Given the description of an element on the screen output the (x, y) to click on. 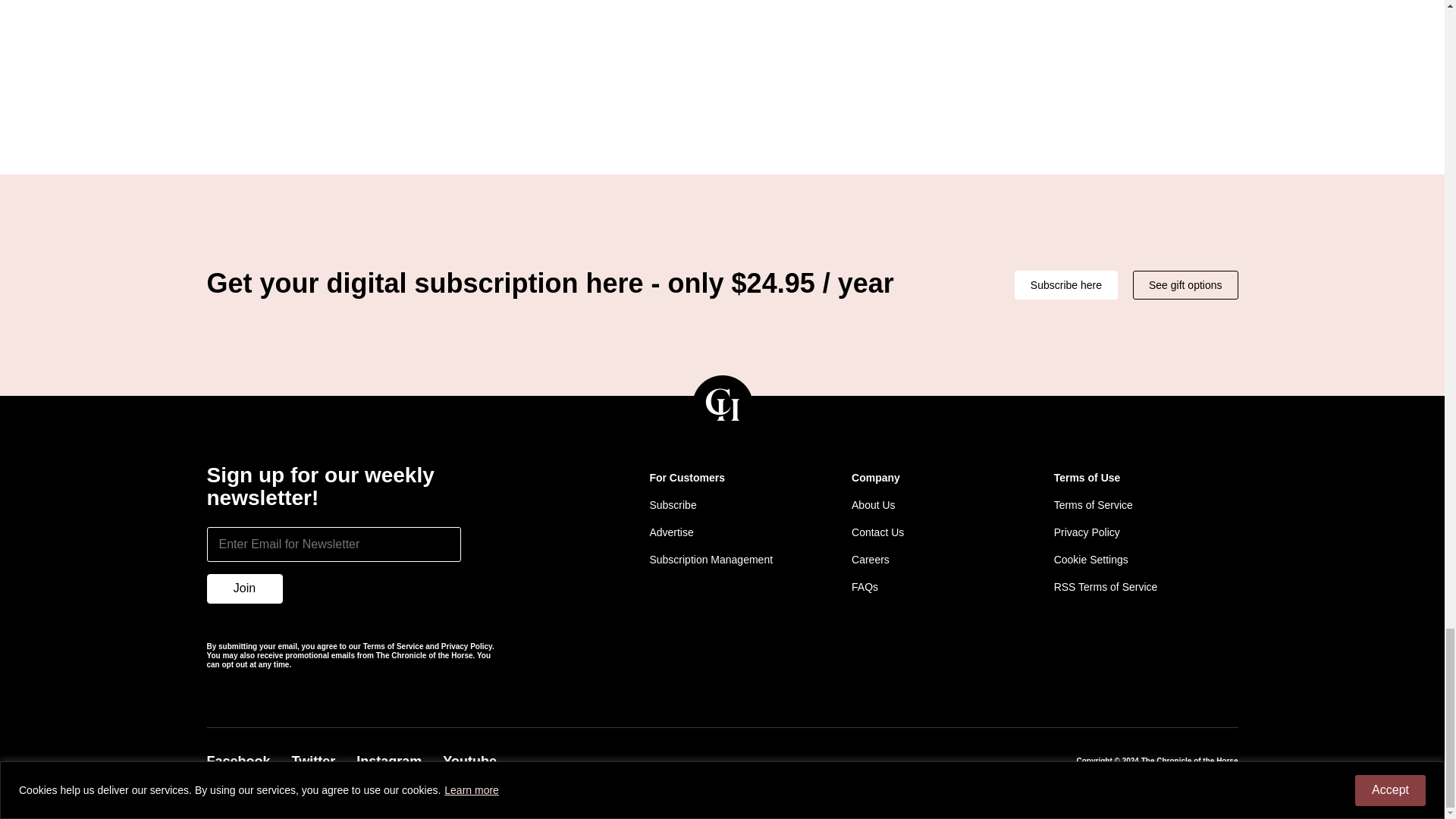
Join (244, 588)
